Given the description of an element on the screen output the (x, y) to click on. 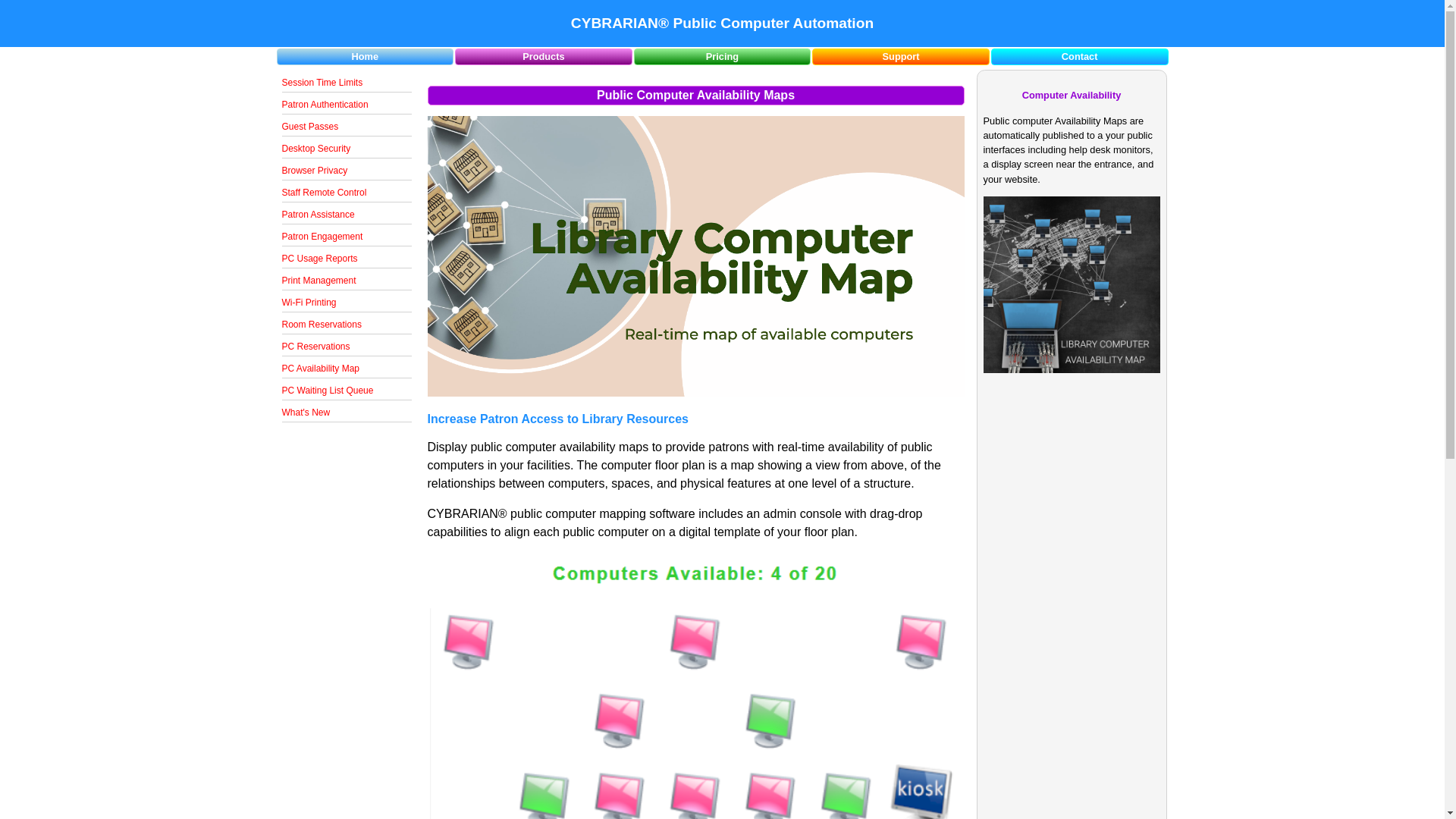
Staff Remote Control of Patron PCs (347, 192)
Home Page (364, 56)
Contact (1079, 56)
PC Reservations (347, 346)
Wi-Fi Printing and Cost Recovery (347, 302)
PC Availability Map (347, 368)
Customer Tech Support (900, 56)
Print Management and Cost Recovery (347, 280)
Patron Computer Session Time Limits (347, 82)
Patron PC Assistance (347, 214)
Guest Pass Barcode Authentication (347, 126)
Guest Passes (347, 126)
Patron Assistance (347, 214)
Patron Engagement (347, 236)
Public Computer Availability Map (347, 368)
